Given the description of an element on the screen output the (x, y) to click on. 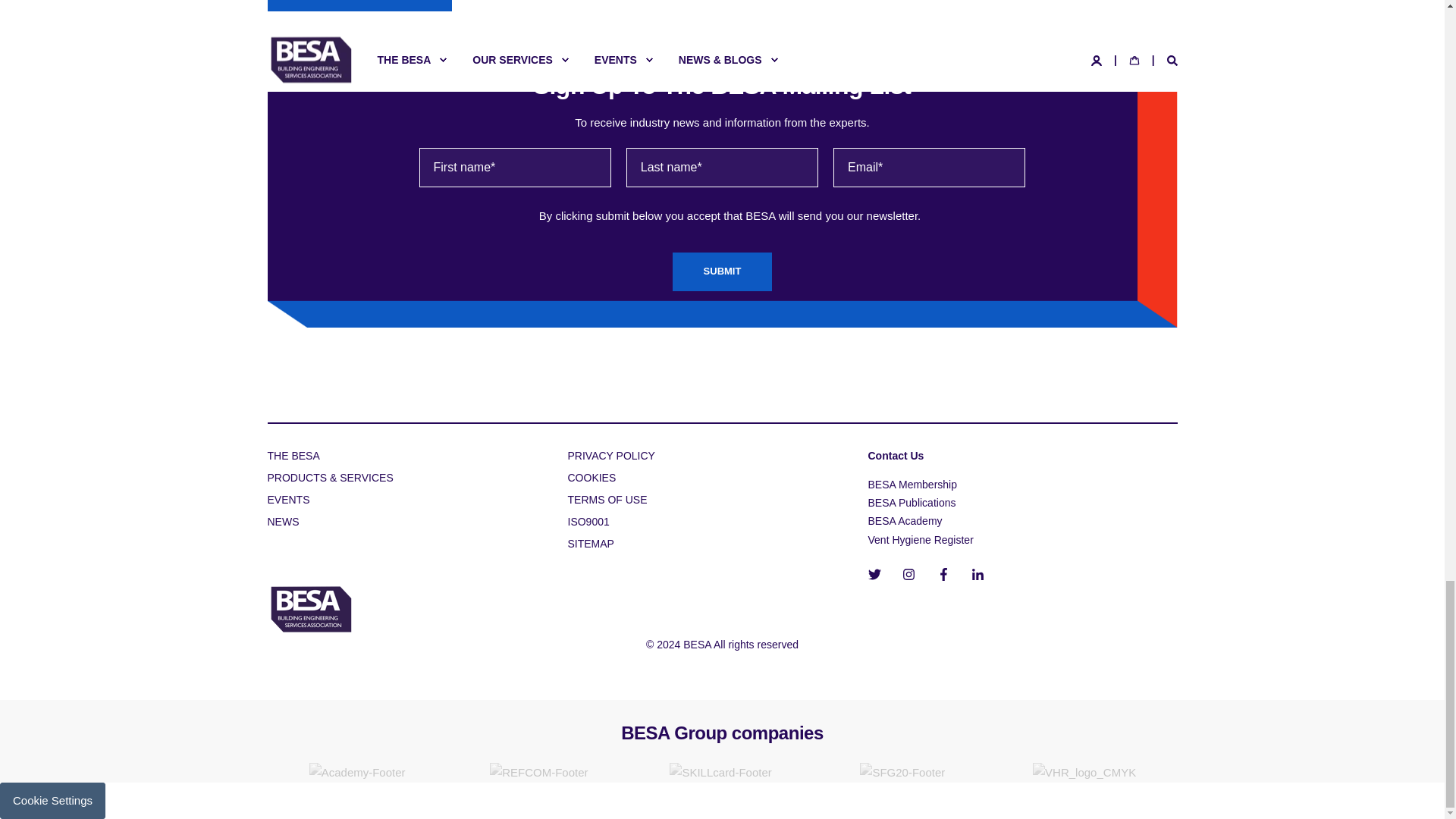
Join BESA Membership (358, 5)
Submit (722, 271)
logo (309, 608)
